Given the description of an element on the screen output the (x, y) to click on. 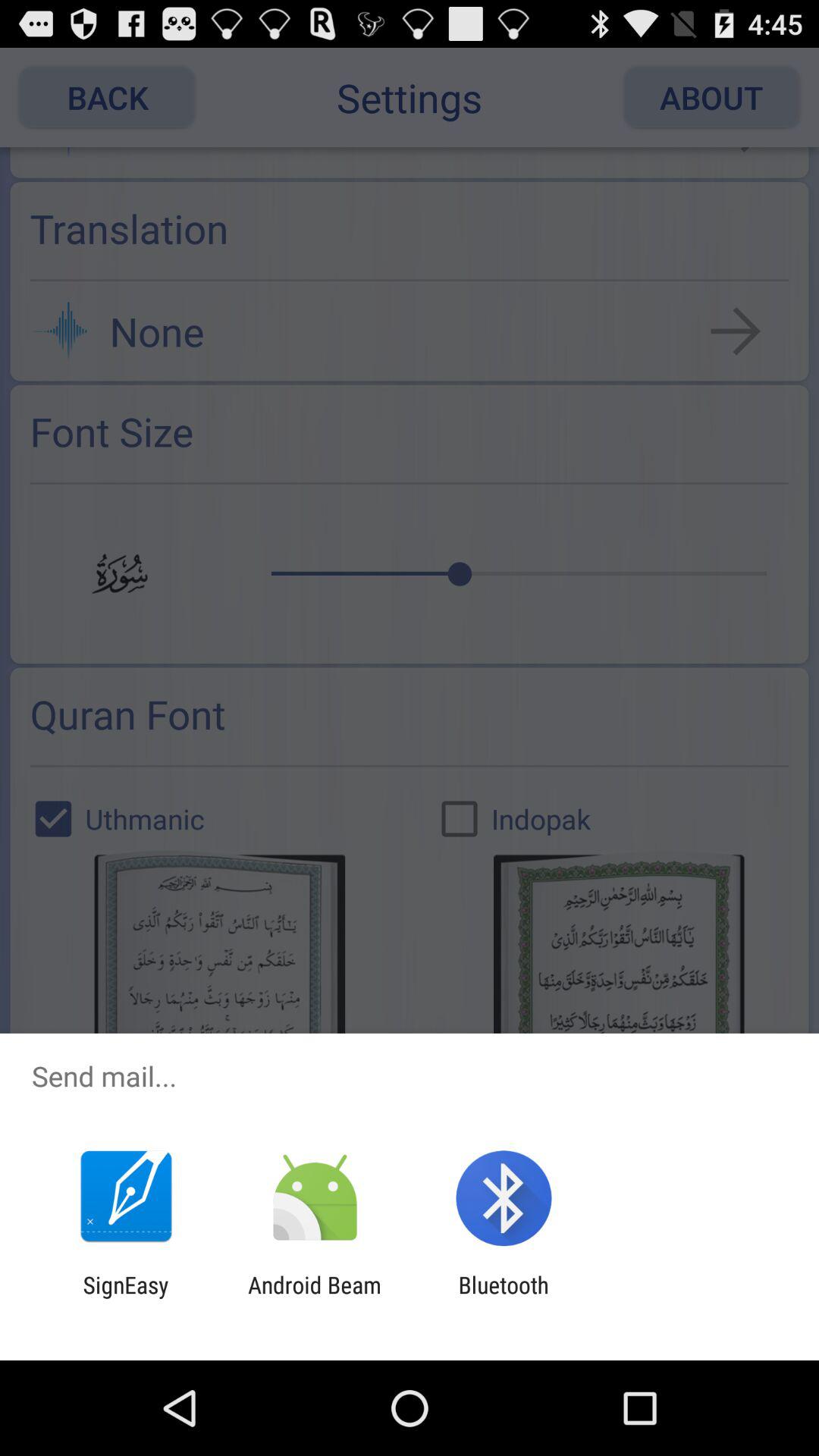
tap the bluetooth (503, 1298)
